Given the description of an element on the screen output the (x, y) to click on. 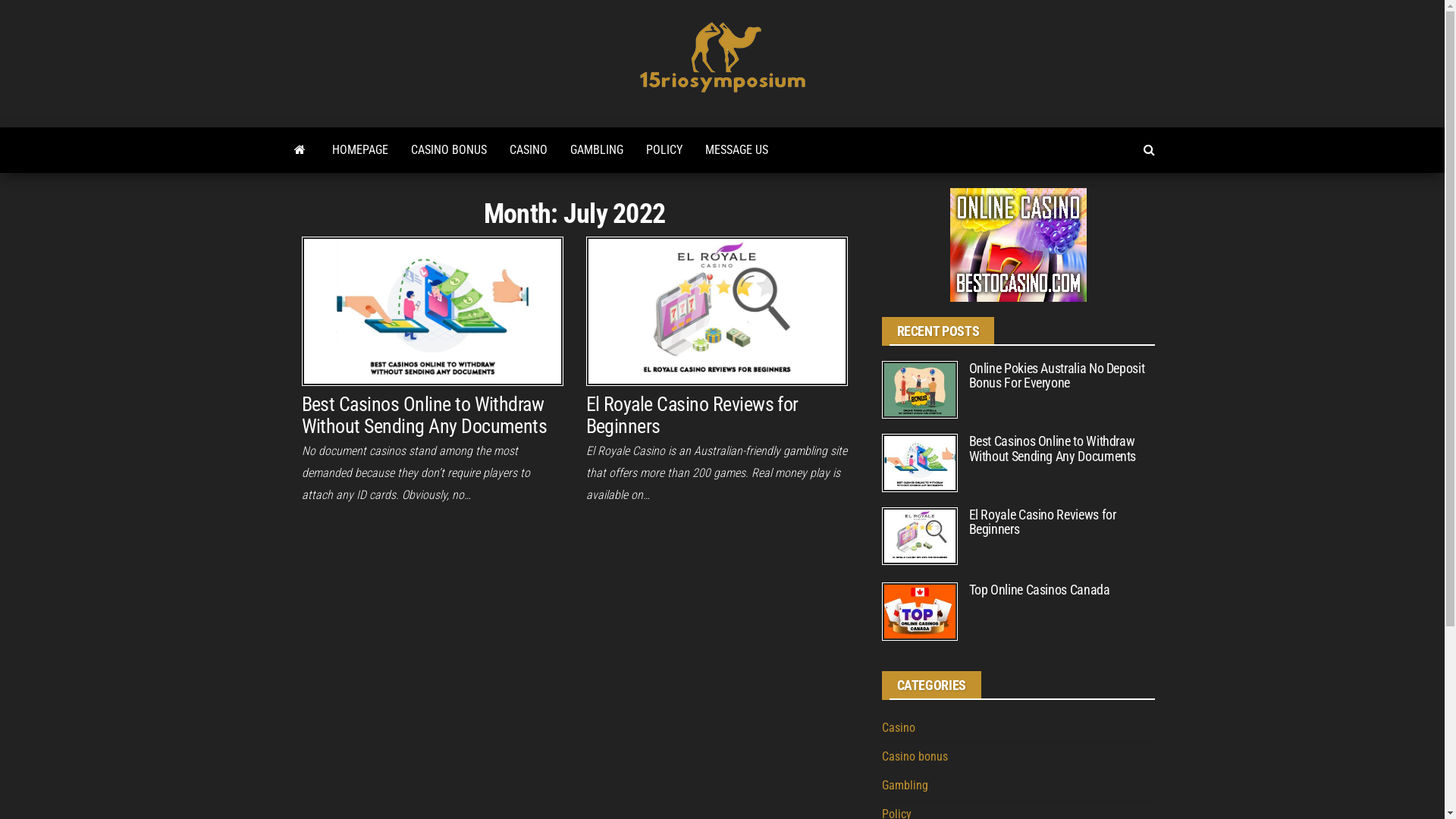
15riosymposium Element type: text (774, 118)
HOMEPAGE Element type: text (359, 149)
MESSAGE US Element type: text (735, 149)
POLICY Element type: text (663, 149)
El Royale Casino Reviews for Beginners Element type: text (691, 414)
Casino bonus Element type: text (914, 756)
CASINO BONUS Element type: text (447, 149)
Top Online Casinos Canada Element type: text (1039, 589)
Gambling Element type: text (904, 785)
Online Pokies Australia No Deposit Bonus For Everyone Element type: hover (919, 388)
15riosymposium Element type: hover (299, 149)
CASINO Element type: text (527, 149)
El Royale Casino Reviews for Beginners Element type: hover (716, 310)
El Royale Casino Reviews for Beginners Element type: hover (919, 536)
El Royale Casino Reviews for Beginners Element type: hover (716, 310)
Top Online Casinos Canada Element type: hover (919, 610)
El Royale Casino Reviews for Beginners Element type: text (1042, 521)
GAMBLING Element type: text (595, 149)
Top Online Casinos Canada Element type: hover (919, 611)
Online Pokies Australia No Deposit Bonus For Everyone Element type: hover (919, 389)
El Royale Casino Reviews for Beginners Element type: hover (919, 534)
Online Pokies Australia No Deposit Bonus For Everyone Element type: text (1057, 375)
Casino Element type: text (897, 727)
